Given the description of an element on the screen output the (x, y) to click on. 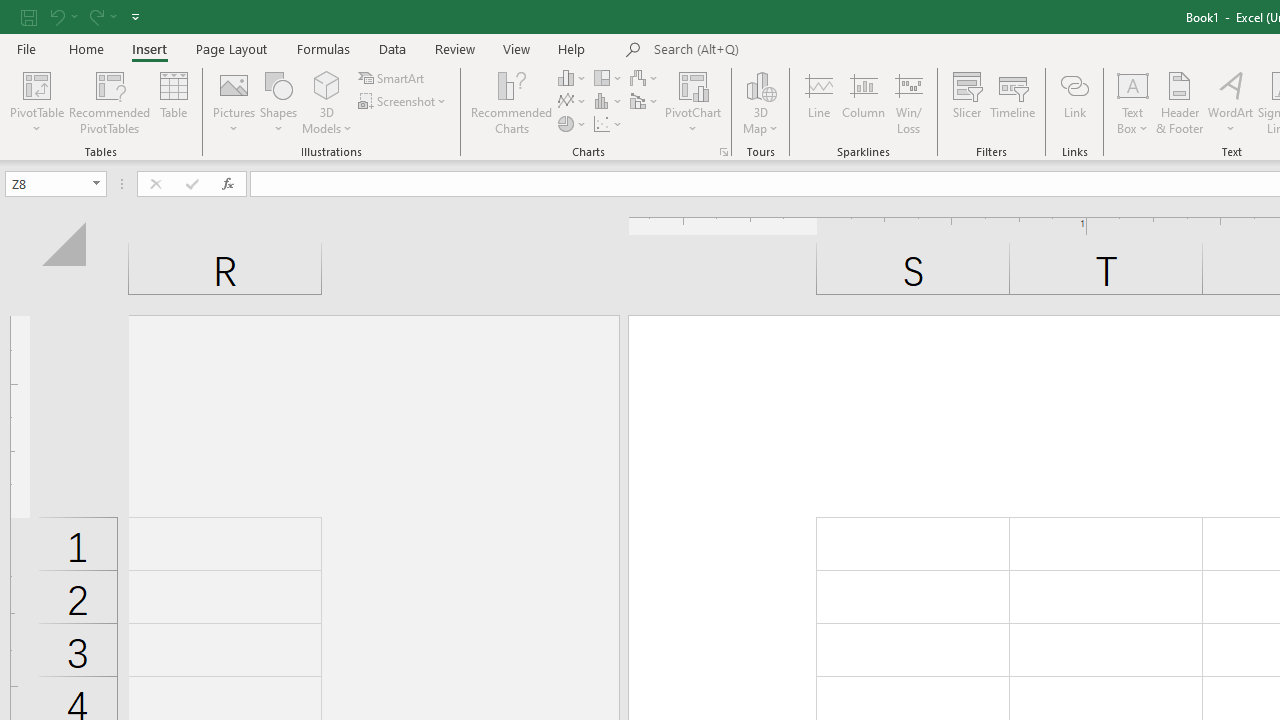
3D Map (760, 102)
Column (863, 102)
Slicer... (966, 102)
Pictures (234, 102)
Insert Line or Area Chart (573, 101)
Insert Waterfall, Funnel, Stock, Surface, or Radar Chart (645, 78)
3D Models (326, 84)
Insert Pie or Doughnut Chart (573, 124)
